Given the description of an element on the screen output the (x, y) to click on. 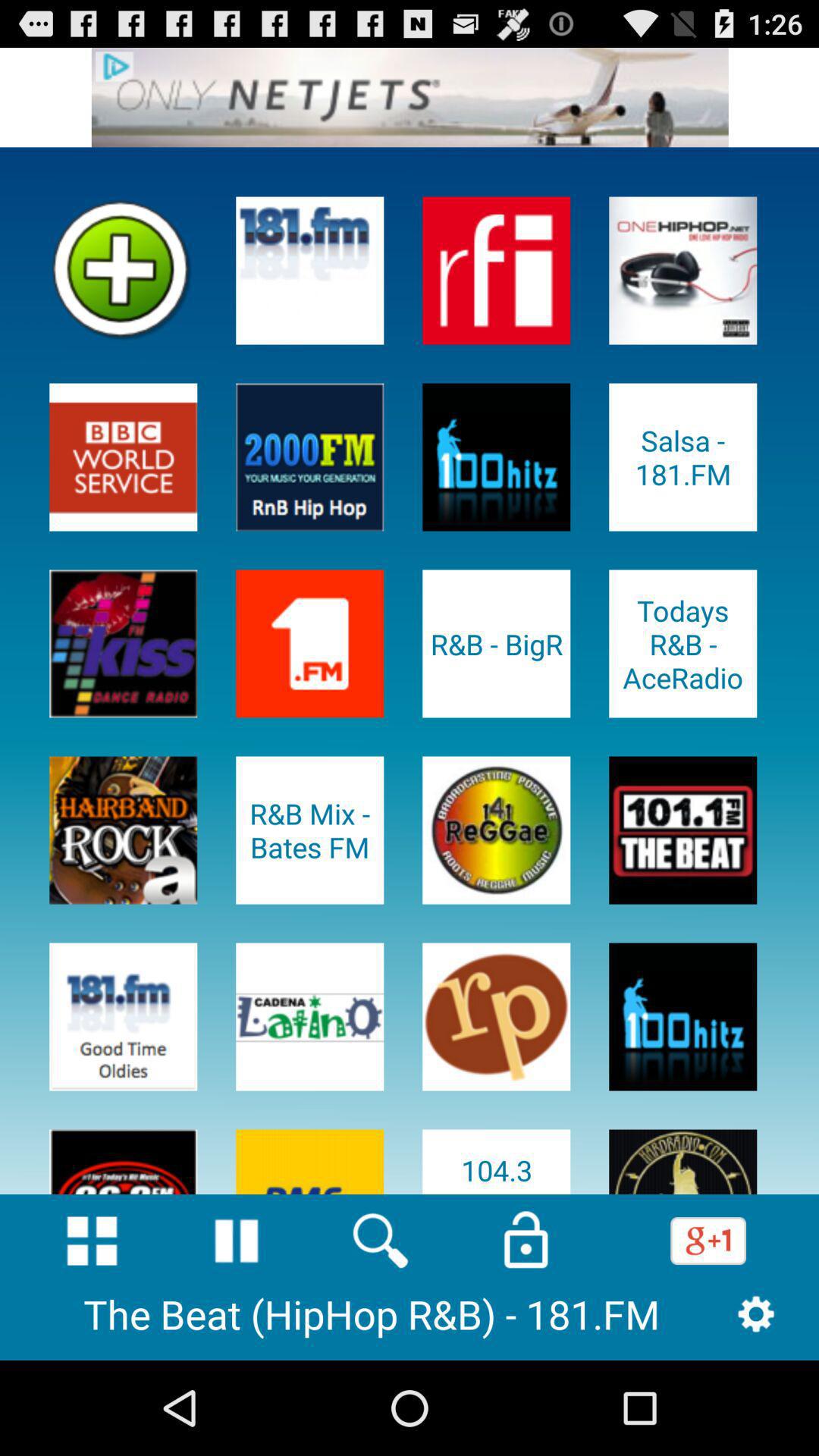
display thumbnails (91, 1240)
